Given the description of an element on the screen output the (x, y) to click on. 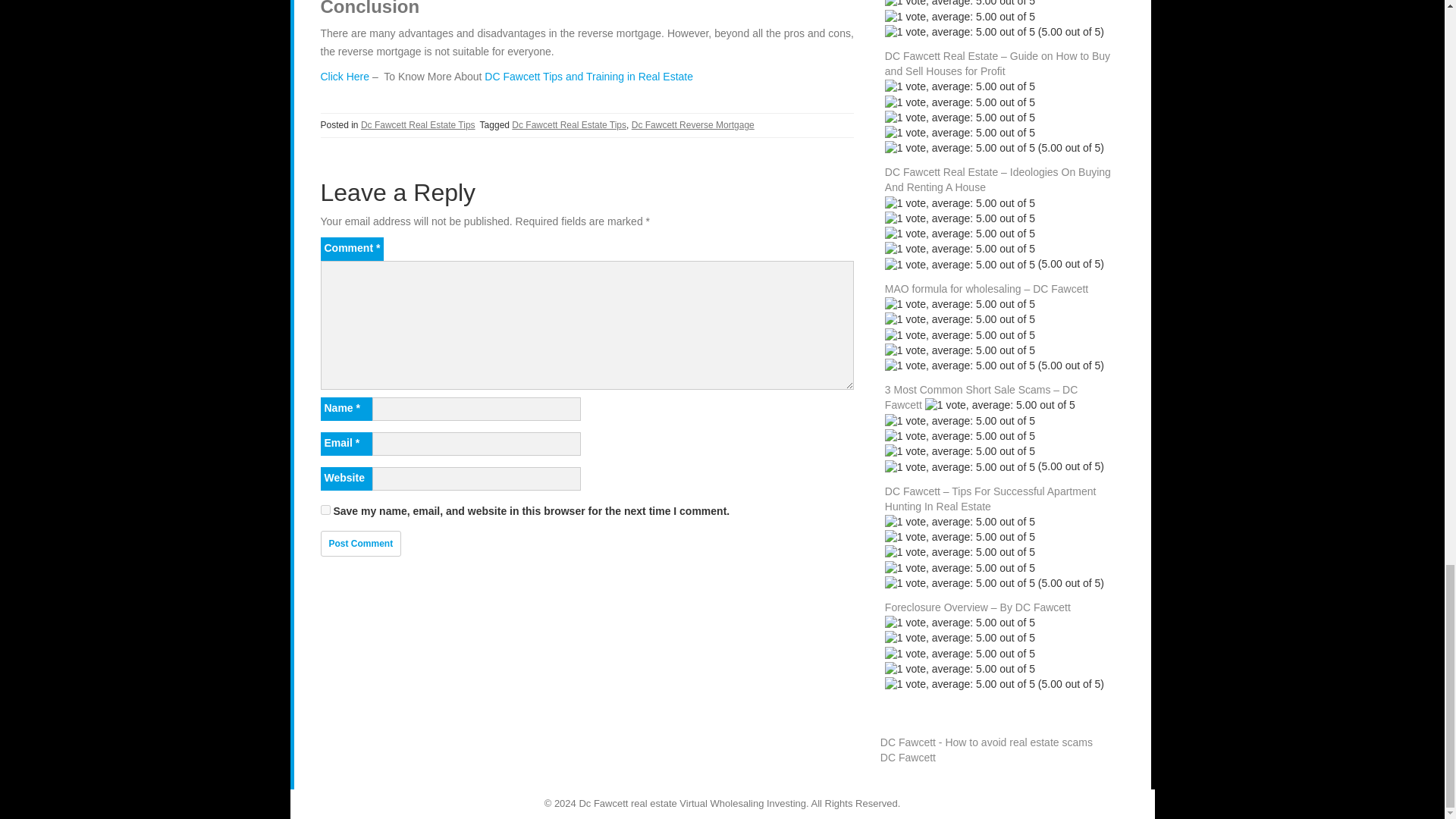
Post Comment (360, 543)
Dc Fawcett Real Estate Tips (418, 124)
DC Fawcett Tips and Training in Real Estate (588, 76)
yes (325, 510)
Dc Fawcett Reverse Mortgage (692, 124)
Dc Fawcett Real Estate Tips (569, 124)
Post Comment (360, 543)
Click Here (344, 76)
